Given the description of an element on the screen output the (x, y) to click on. 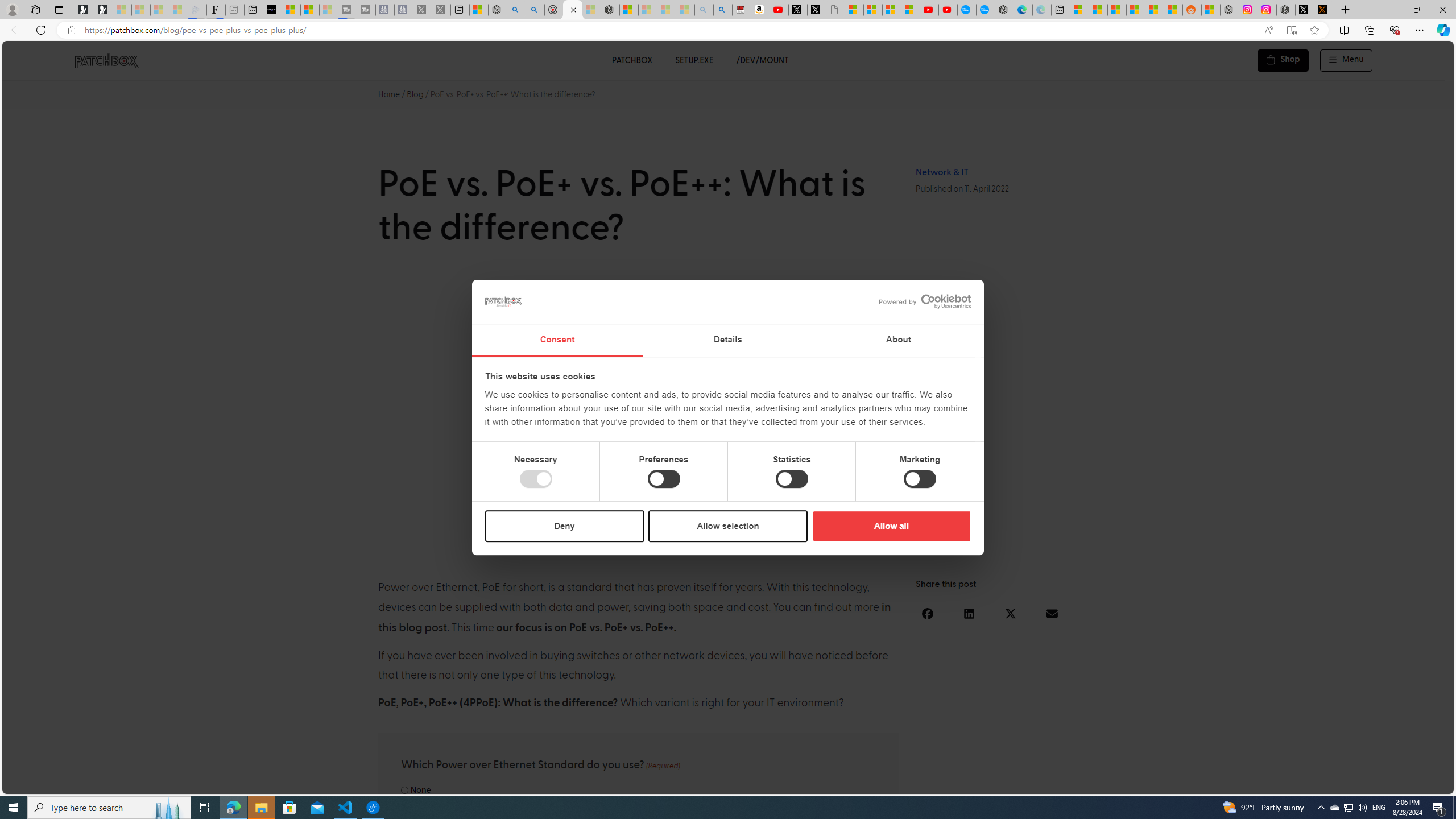
Language switcher : Klingon (1425, 782)
Enter Immersive Reader (F9) (1291, 29)
Necessary (535, 479)
Powered by Cookiebot (925, 301)
X - Sleeping (440, 9)
Language switcher : Norwegian (1288, 782)
Language switcher : Finnish (1391, 782)
Untitled (835, 9)
PATCHBOX Simplify IT (114, 60)
